Given the description of an element on the screen output the (x, y) to click on. 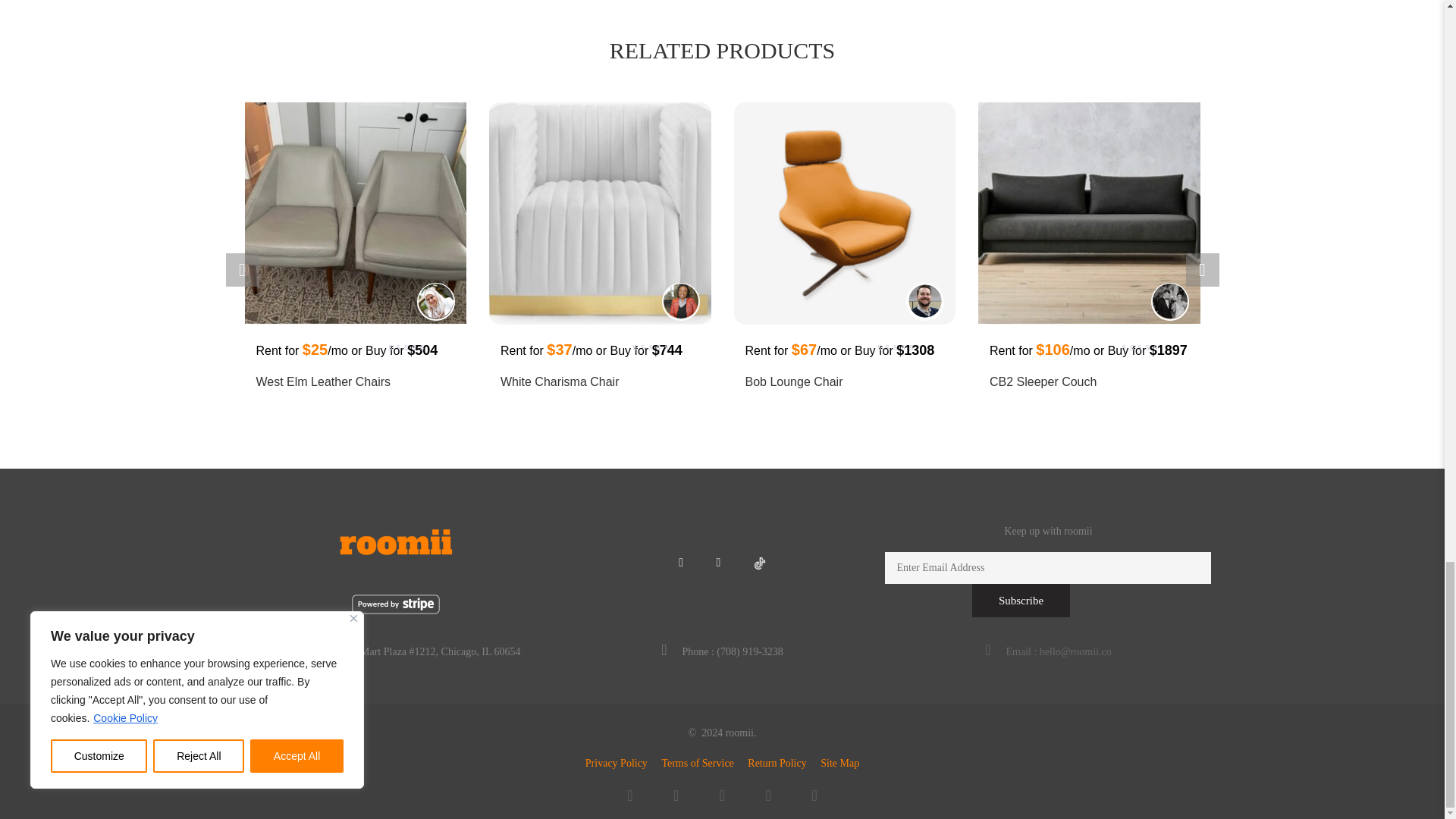
Subscribe (1021, 600)
